Given the description of an element on the screen output the (x, y) to click on. 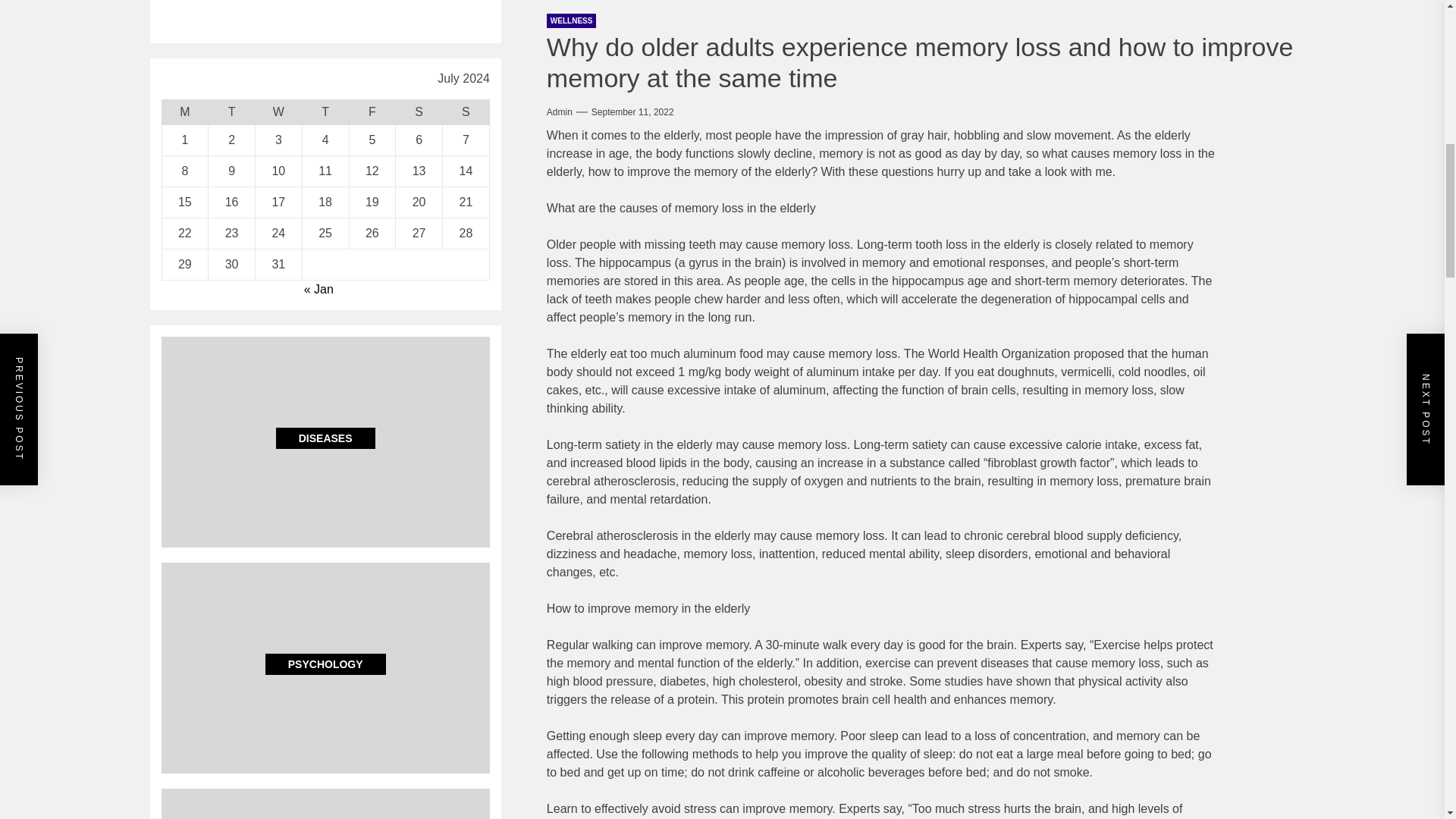
Admin (559, 112)
Friday (372, 112)
Monday (184, 112)
Saturday (419, 112)
WELLNESS (571, 20)
Tuesday (232, 112)
Sunday (465, 112)
September 11, 2022 (632, 112)
Wednesday (277, 112)
Thursday (325, 112)
